Given the description of an element on the screen output the (x, y) to click on. 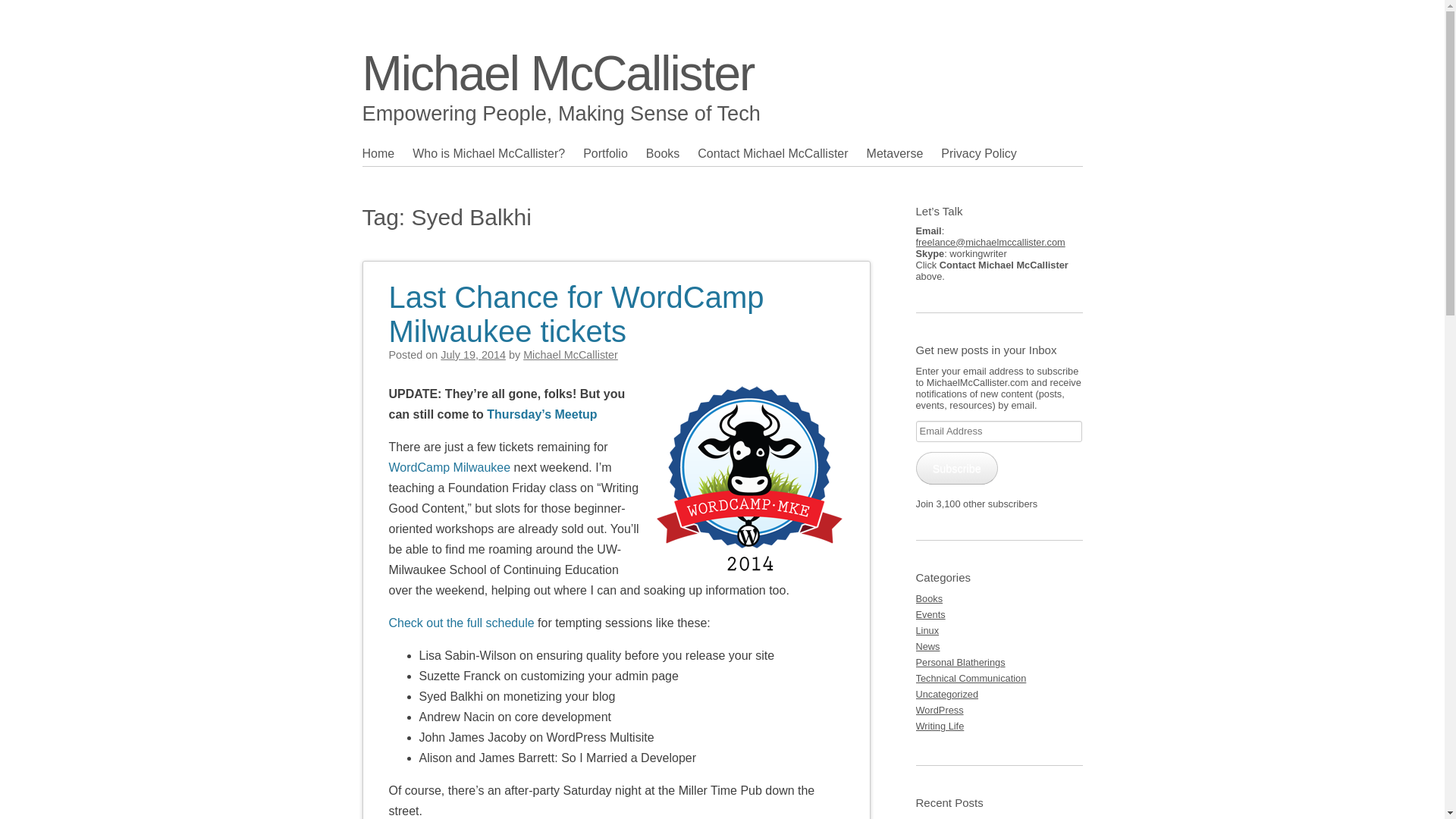
10:11 am (473, 354)
Check out the full schedule (461, 622)
View all posts by Michael McCallister (569, 354)
Permalink to Last Chance for WordCamp Milwaukee tickets (575, 304)
Books (671, 153)
Tickets for WordCamp Milwaukee 2014 (449, 467)
Last Chance for WordCamp Milwaukee tickets (575, 304)
Privacy Policy (987, 153)
Home (387, 153)
